Given the description of an element on the screen output the (x, y) to click on. 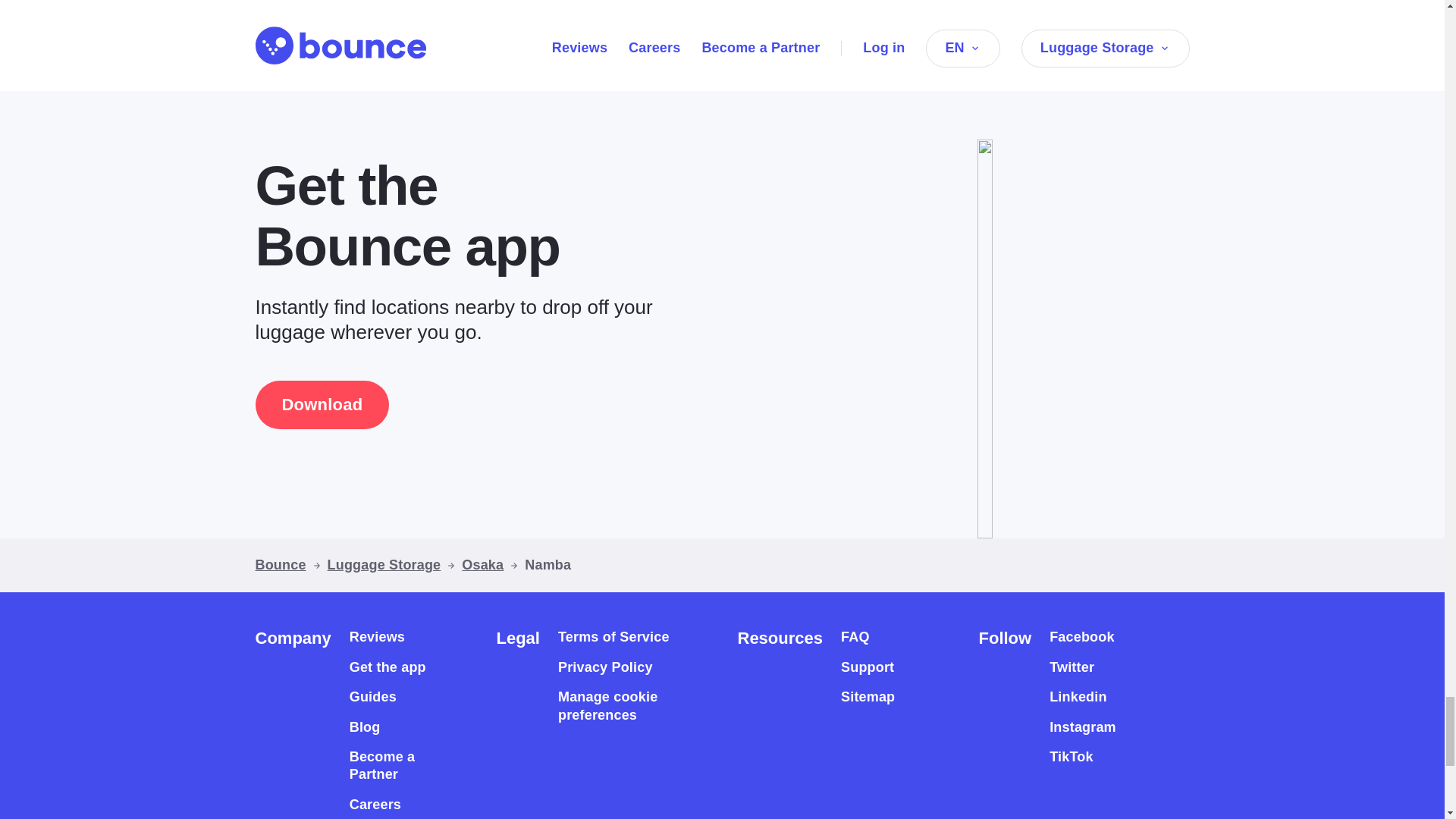
Luggage Storage (384, 565)
Bounce (279, 565)
Download (321, 404)
Get the app (387, 667)
Reviews (376, 637)
Osaka (482, 565)
